Given the description of an element on the screen output the (x, y) to click on. 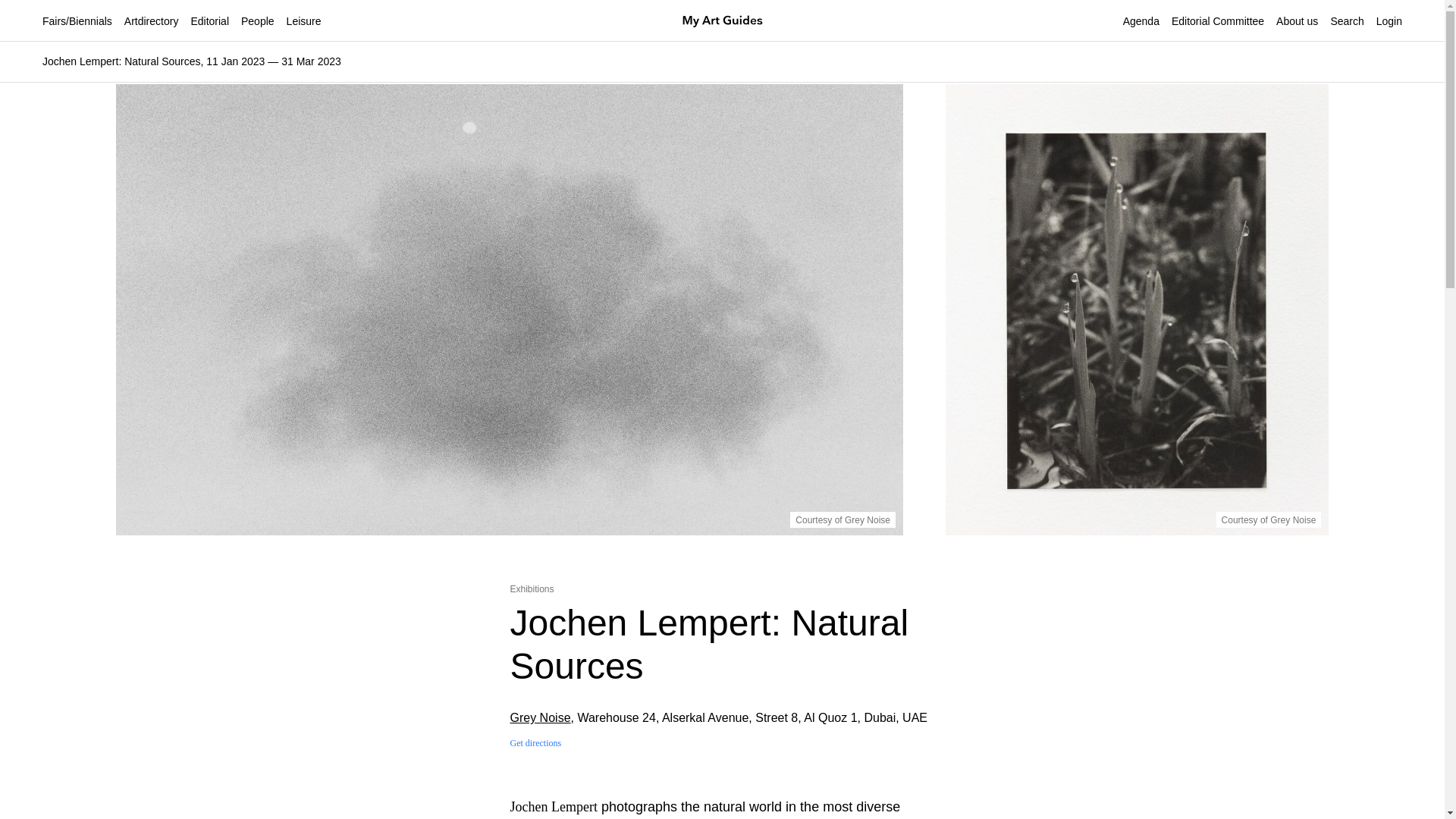
Get directions (534, 742)
Agenda (1140, 21)
Artdirectory (151, 21)
Editorial Committee (1217, 21)
Login (1388, 21)
Subscribe (415, 590)
About us (1296, 21)
Grey Noise (539, 717)
Search (595, 470)
Editorial (209, 21)
Leisure (303, 21)
People (258, 21)
Search (1346, 21)
